Given the description of an element on the screen output the (x, y) to click on. 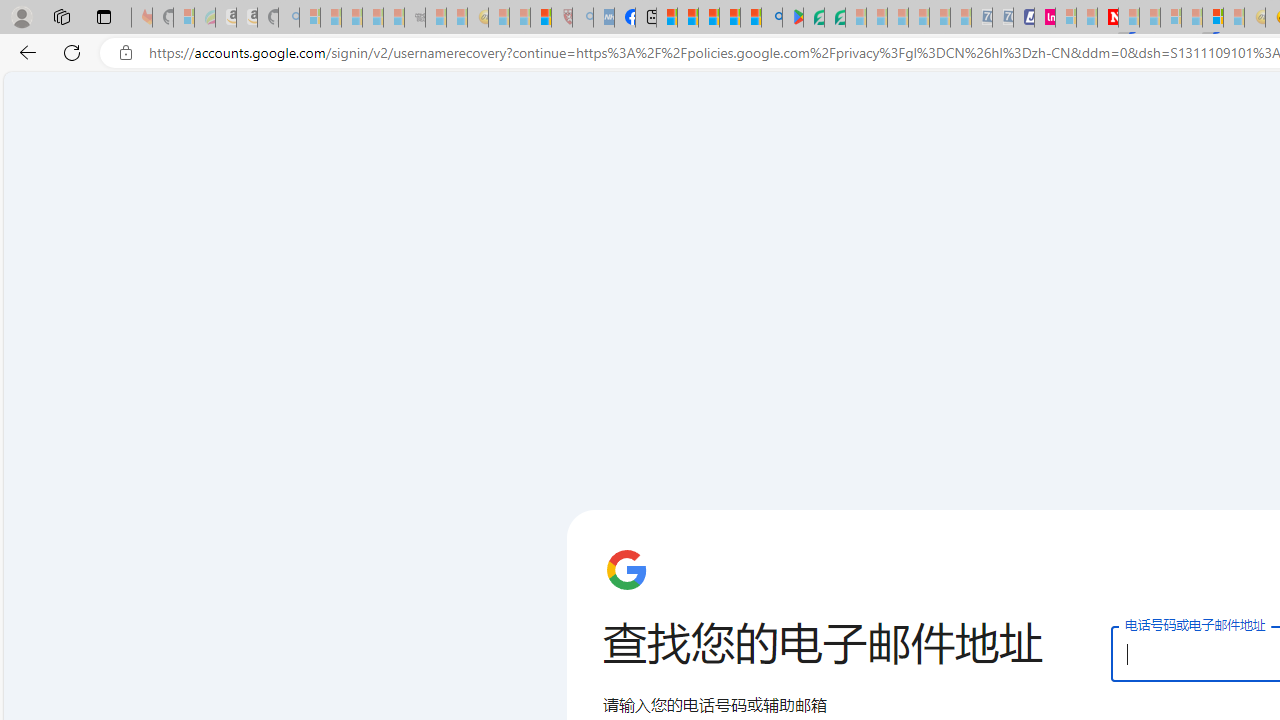
Microsoft Word - consumer-privacy address update 2.2021 (834, 17)
